Given the description of an element on the screen output the (x, y) to click on. 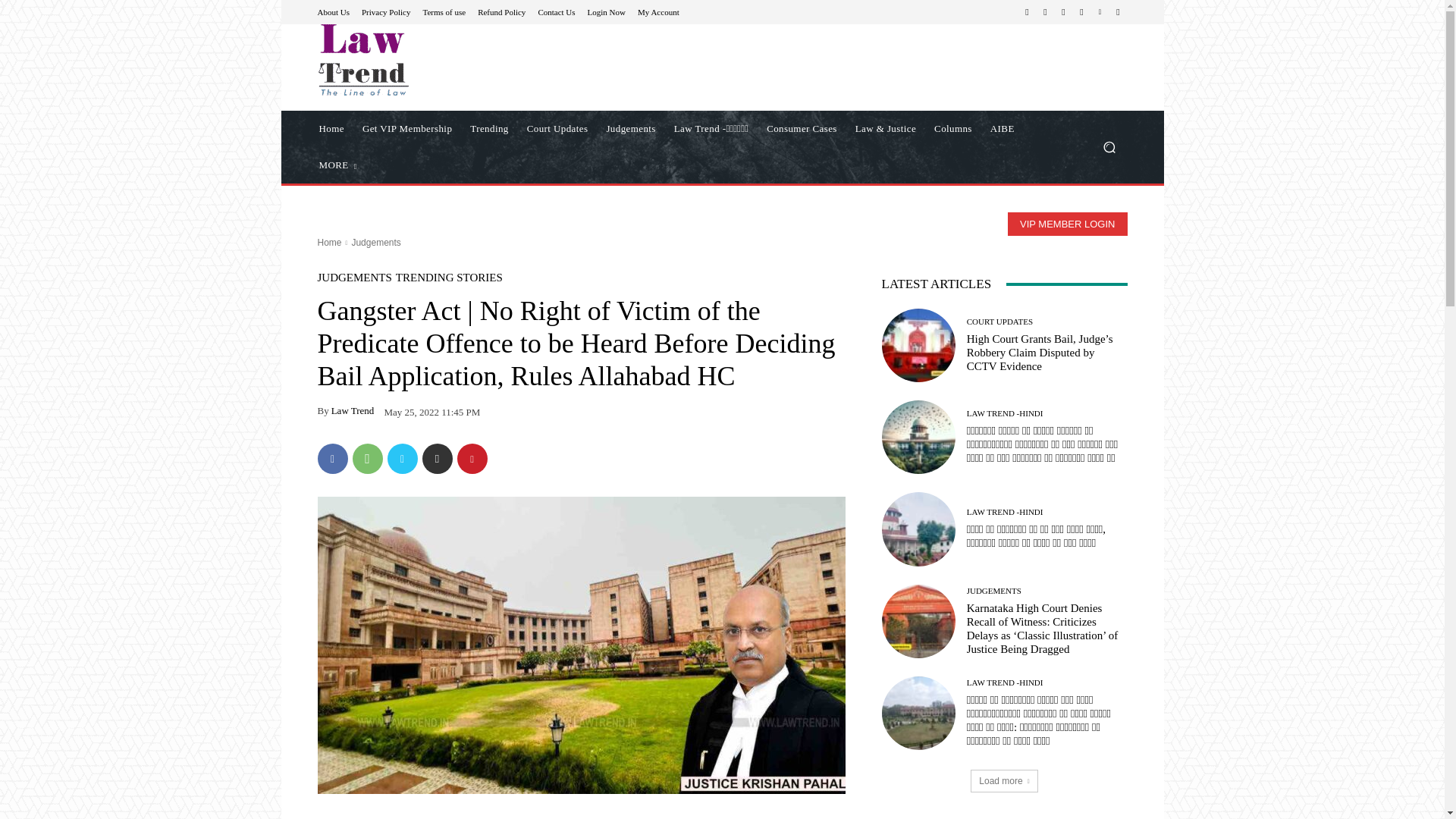
Facebook (1026, 12)
My Account (658, 11)
Twitter (1080, 12)
Contact Us (556, 11)
Law Trend- Legal News Website (425, 59)
Youtube (1117, 12)
Law Trend- Legal News Website (362, 59)
Telegram (1062, 12)
Vimeo (1099, 12)
Instagram (1044, 12)
